Given the description of an element on the screen output the (x, y) to click on. 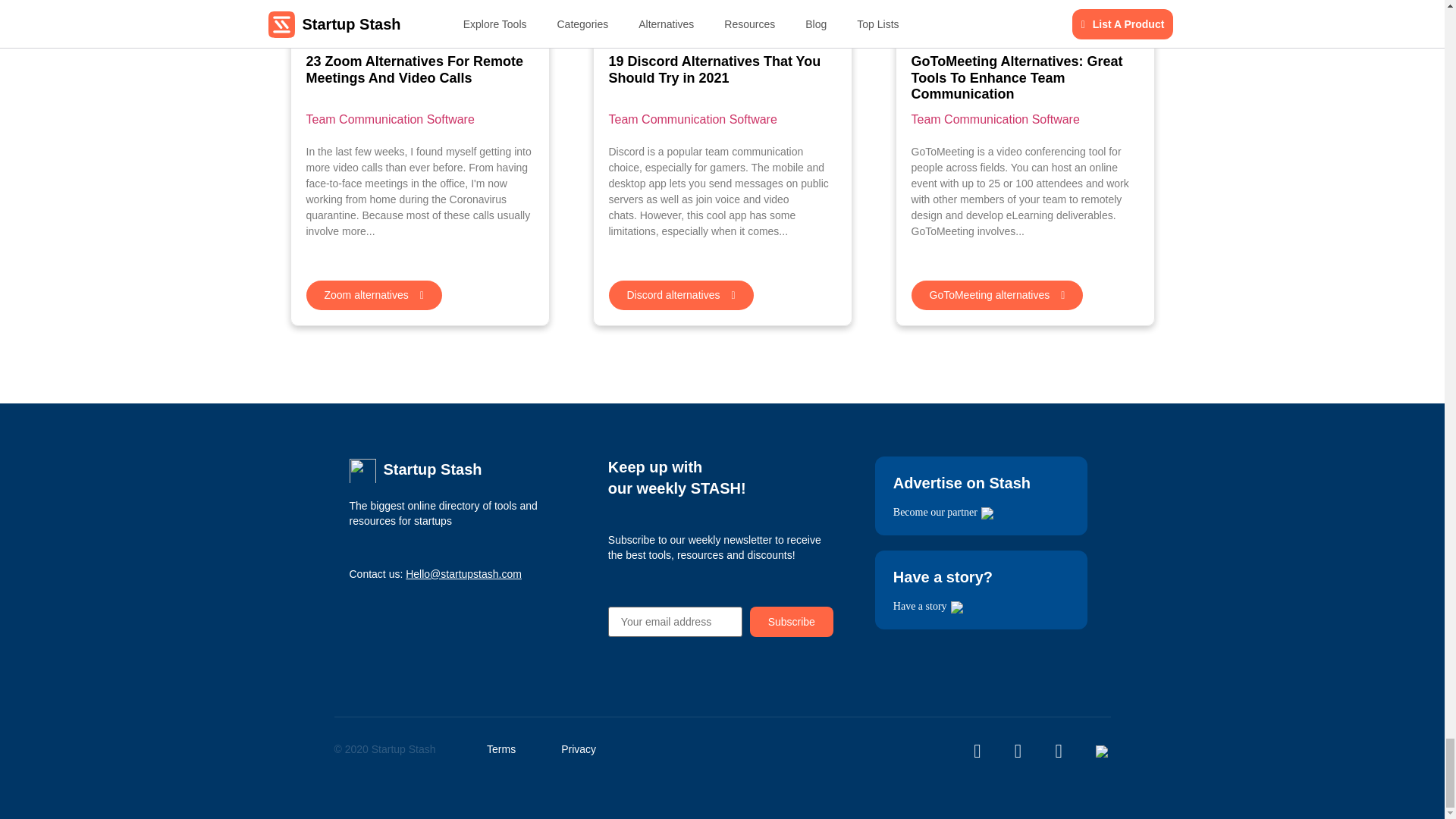
Subscribe (790, 621)
